Given the description of an element on the screen output the (x, y) to click on. 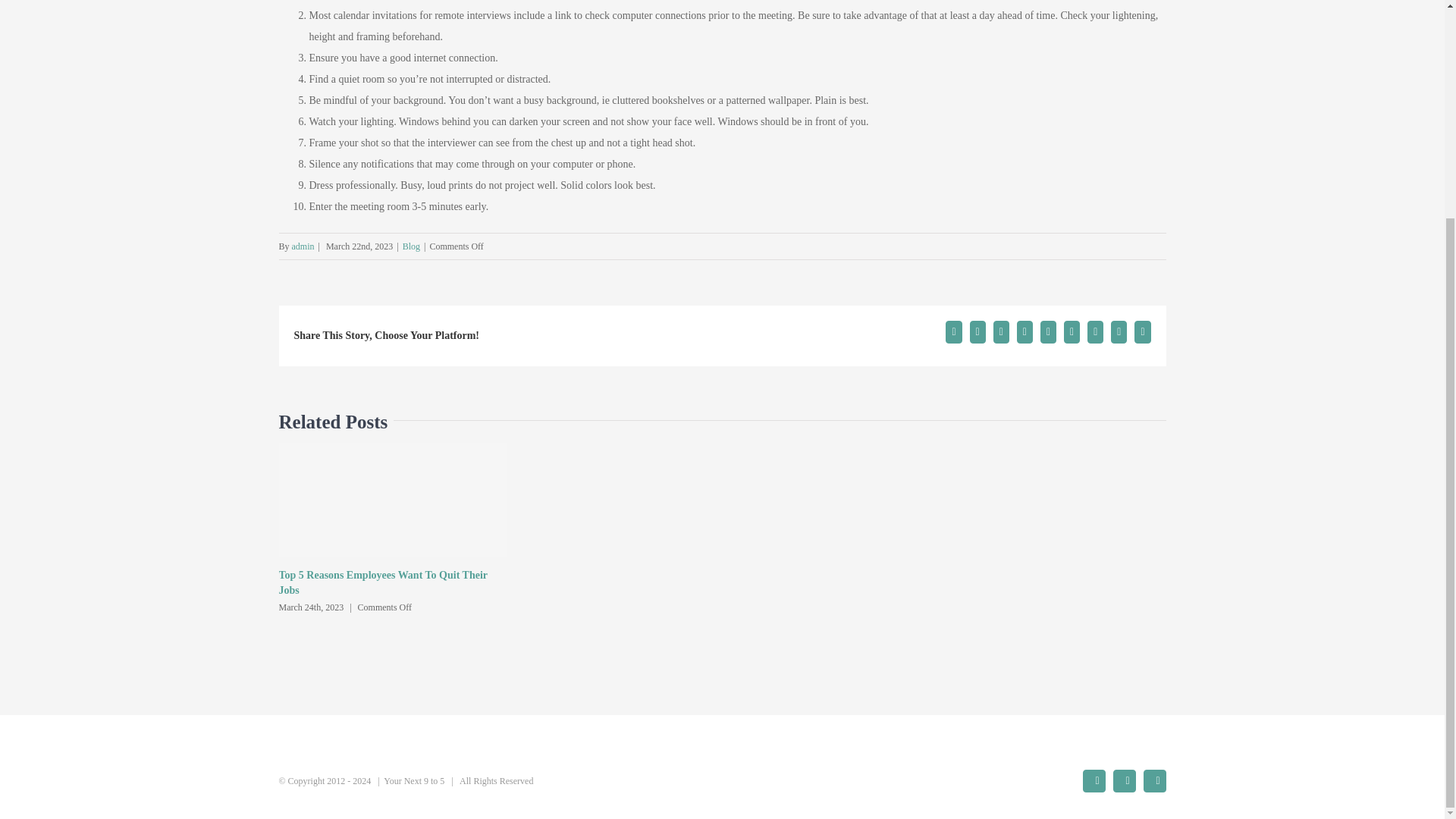
Top 5 Reasons Employees Want To Quit Their Jobs (383, 582)
Blog (411, 245)
Posts by admin (303, 245)
Email (1142, 332)
Linkedin (1154, 780)
Linkedin (1000, 332)
Reddit (1024, 332)
Twitter (1124, 780)
Tumblr (1049, 332)
Vk (1118, 332)
Facebook (1094, 780)
Facebook (952, 332)
Pinterest (1095, 332)
admin (303, 245)
Twitter (977, 332)
